Given the description of an element on the screen output the (x, y) to click on. 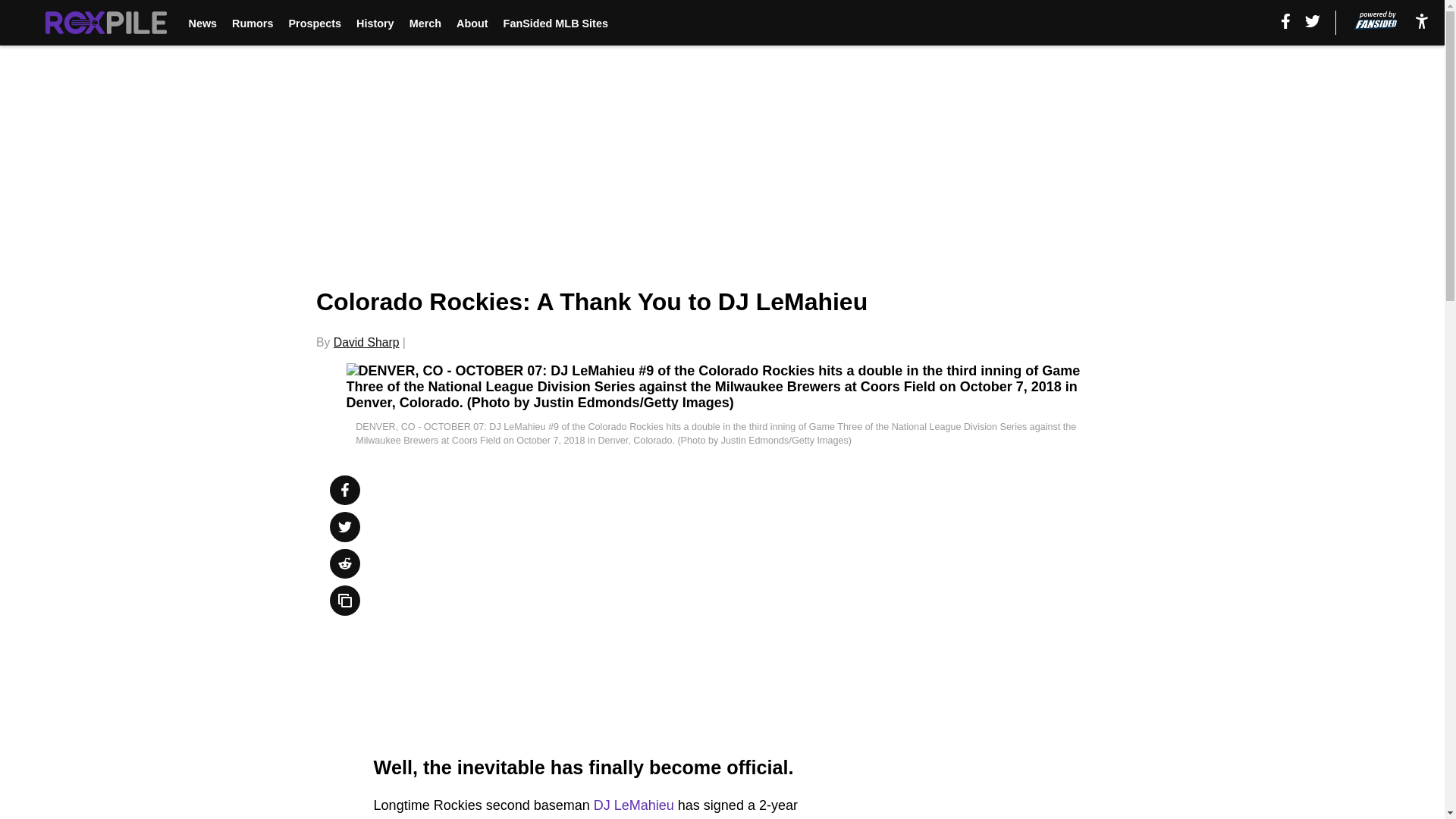
FanSided MLB Sites (555, 23)
Rumors (252, 23)
Prospects (314, 23)
History (375, 23)
About (472, 23)
David Sharp (365, 341)
Merch (425, 23)
News (201, 23)
DJ LeMahieu (634, 805)
